Given the description of an element on the screen output the (x, y) to click on. 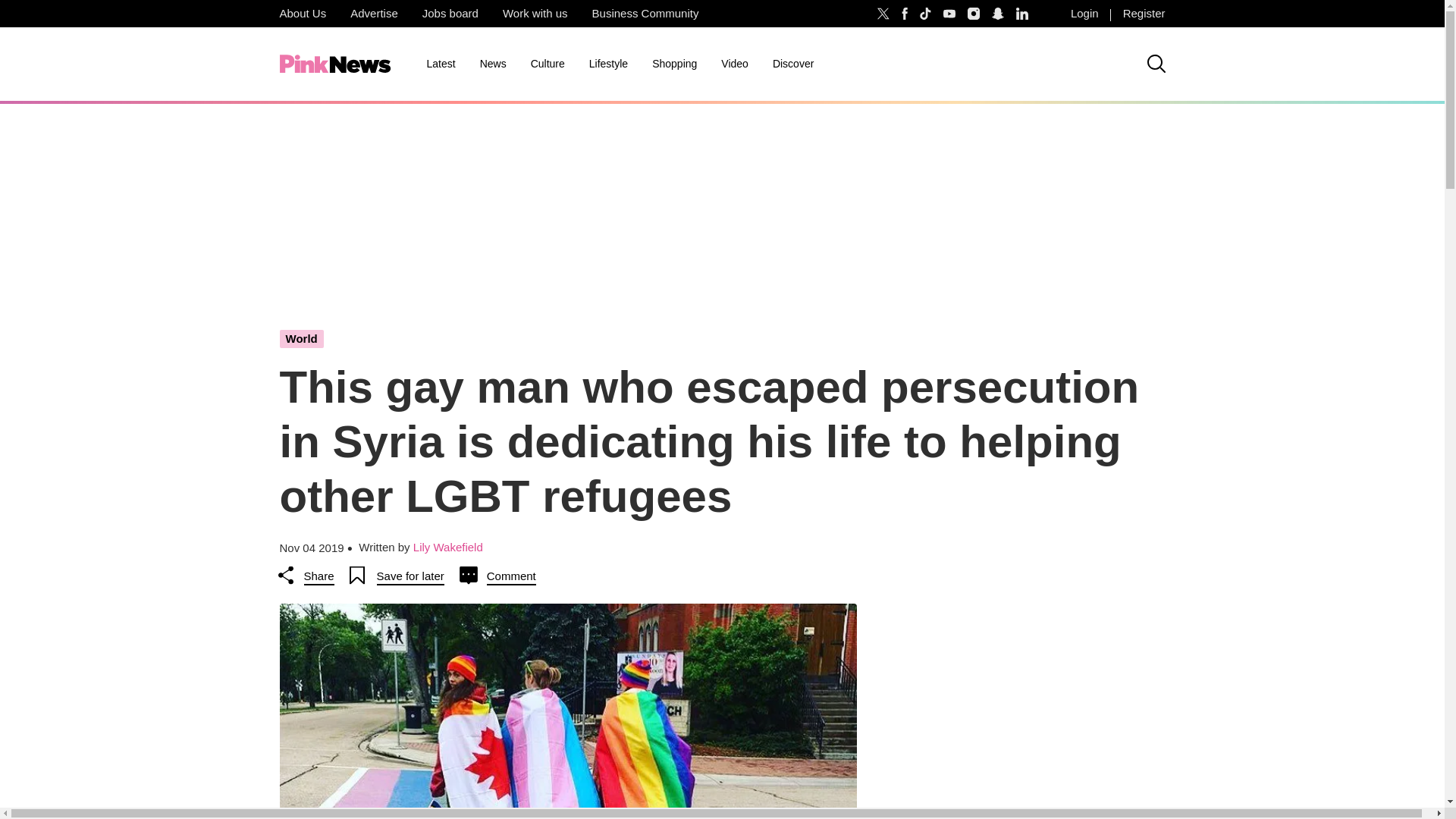
Lifestyle (608, 63)
Follow PinkNews on LinkedIn (1021, 13)
Jobs board (450, 13)
Work with us (534, 13)
Advertise (373, 13)
Business Community (645, 13)
Login (1084, 13)
Latest (440, 63)
News (493, 63)
Register (1143, 13)
